Given the description of an element on the screen output the (x, y) to click on. 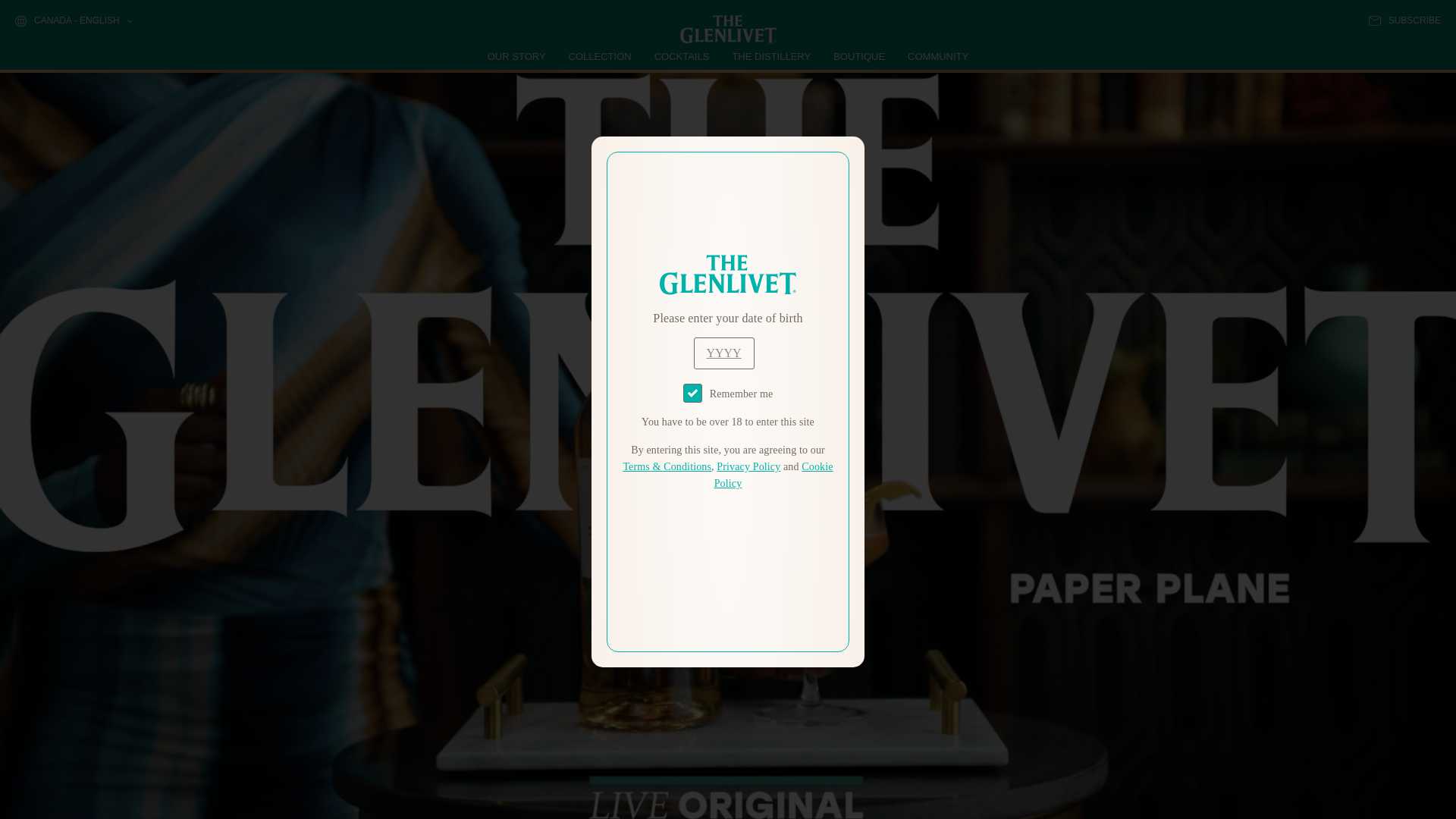
CANADA - ENGLISH (73, 21)
COCKTAILS (681, 56)
THE DISTILLERY (771, 56)
Privacy Policy (748, 466)
COMMUNITY (937, 56)
SUBSCRIBE (1404, 20)
COLLECTION (600, 56)
year (723, 353)
OUR STORY (516, 56)
BOUTIQUE (858, 56)
